Given the description of an element on the screen output the (x, y) to click on. 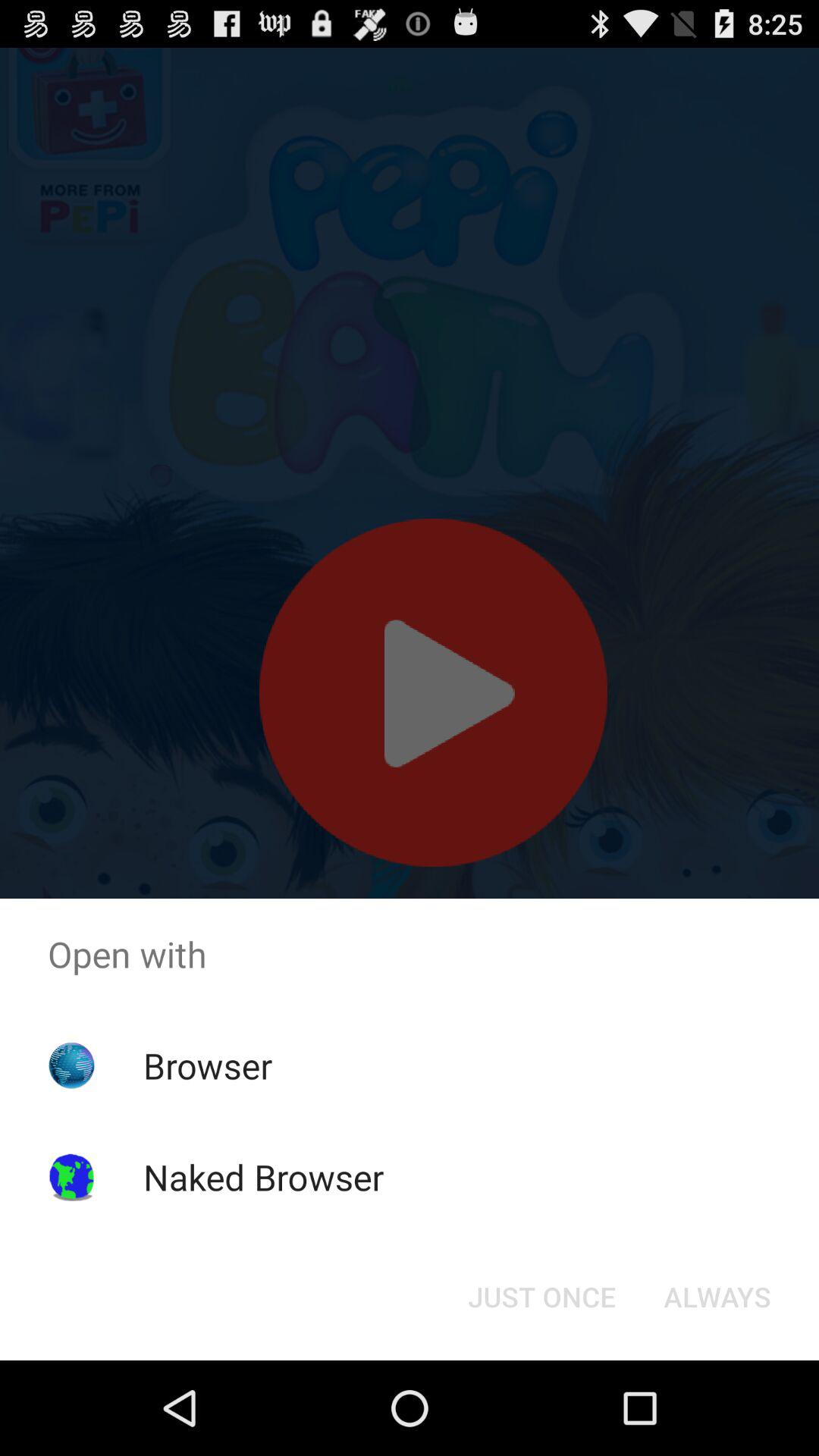
press the button at the bottom right corner (717, 1296)
